Given the description of an element on the screen output the (x, y) to click on. 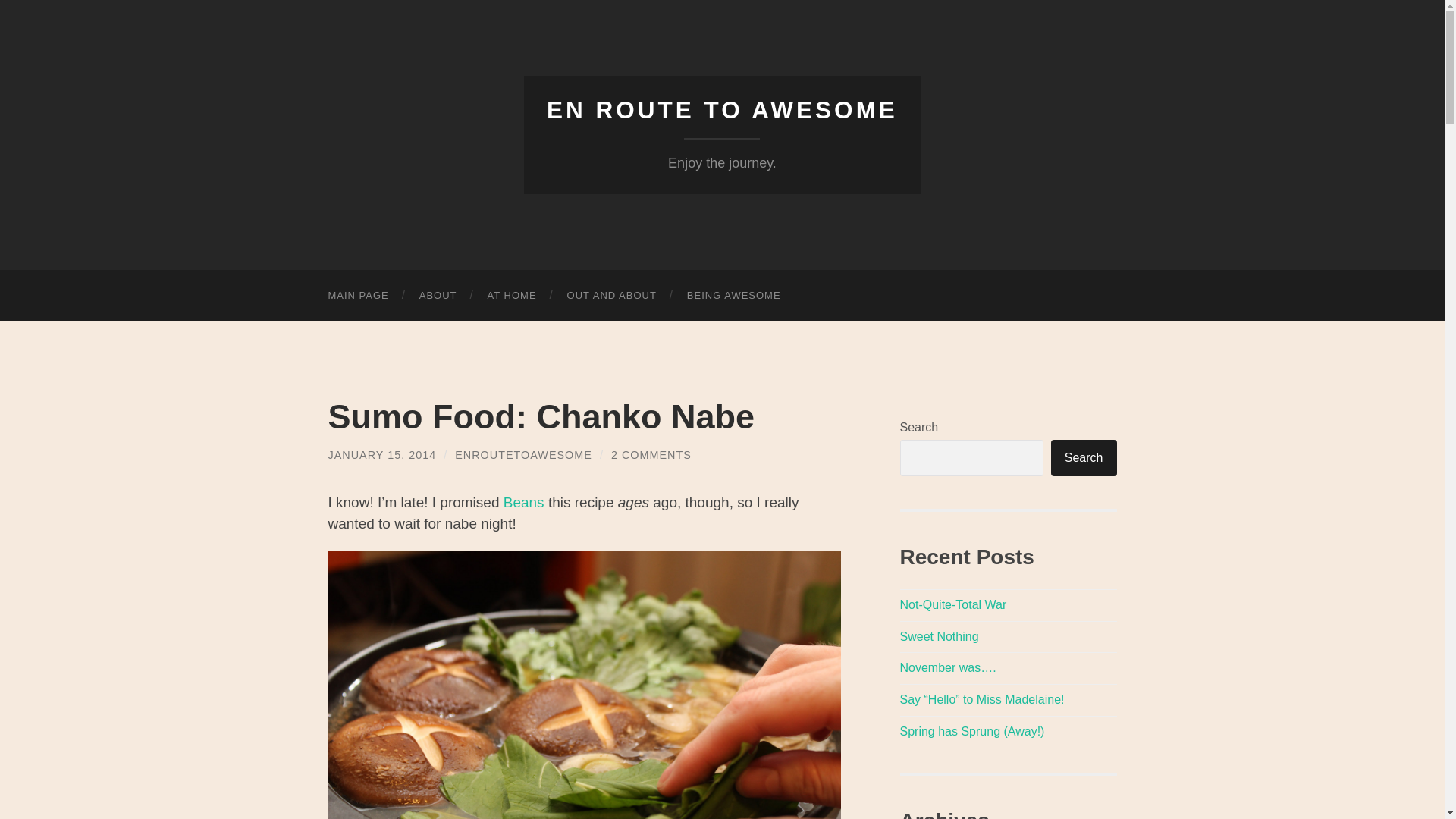
EN ROUTE TO AWESOME (722, 109)
ENROUTETOAWESOME (523, 454)
JANUARY 15, 2014 (381, 454)
2 COMMENTS (651, 454)
OUT AND ABOUT (611, 295)
ABOUT (437, 295)
Posts by enroutetoawesome (523, 454)
BEING AWESOME (733, 295)
AT HOME (511, 295)
MAIN PAGE (358, 295)
